Given the description of an element on the screen output the (x, y) to click on. 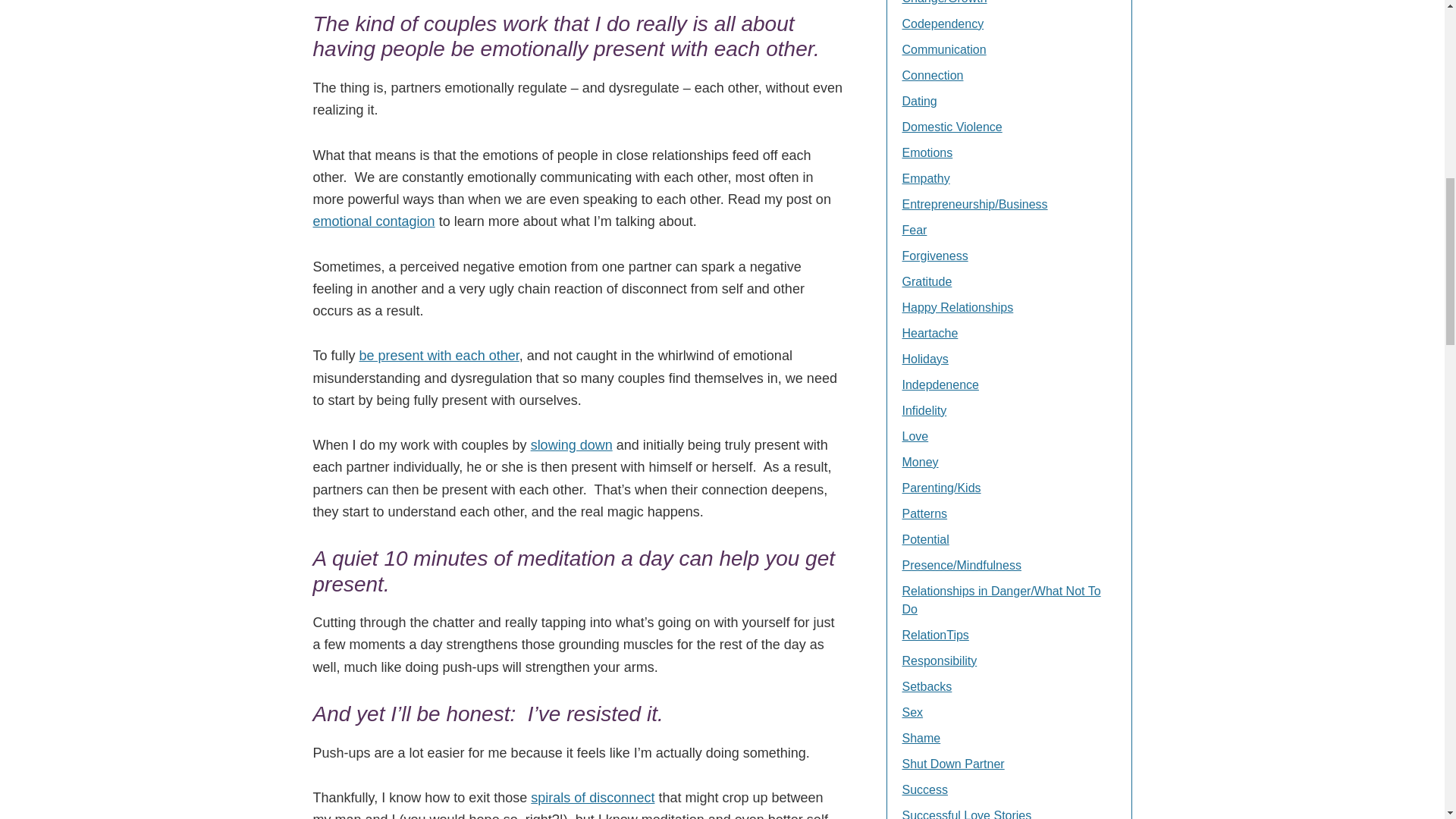
be present with each other (439, 355)
spirals of disconnect (592, 797)
Emotional contagion and why you should know about it (373, 221)
slowing down (571, 444)
Which relationship pattern is yours? (592, 797)
emotional contagion (373, 221)
Slow down to go faster (571, 444)
